Given the description of an element on the screen output the (x, y) to click on. 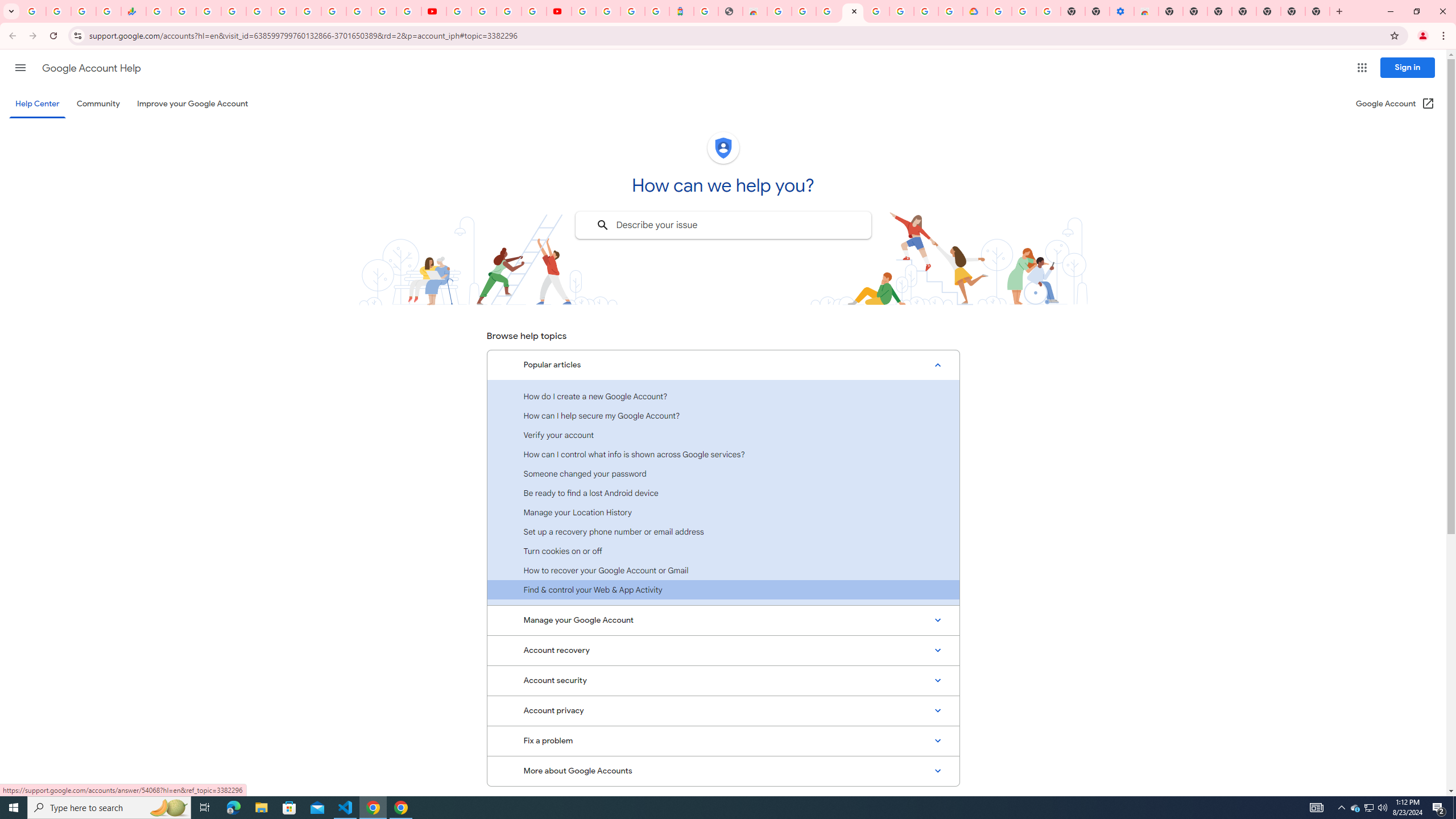
Android TV Policies and Guidelines - Transparency Center (308, 11)
Account recovery (722, 650)
Describe your issue to find information that might help you. (722, 225)
Sign in - Google Accounts (925, 11)
Atour Hotel - Google hotels (680, 11)
Ad Settings (803, 11)
YouTube (458, 11)
